Given the description of an element on the screen output the (x, y) to click on. 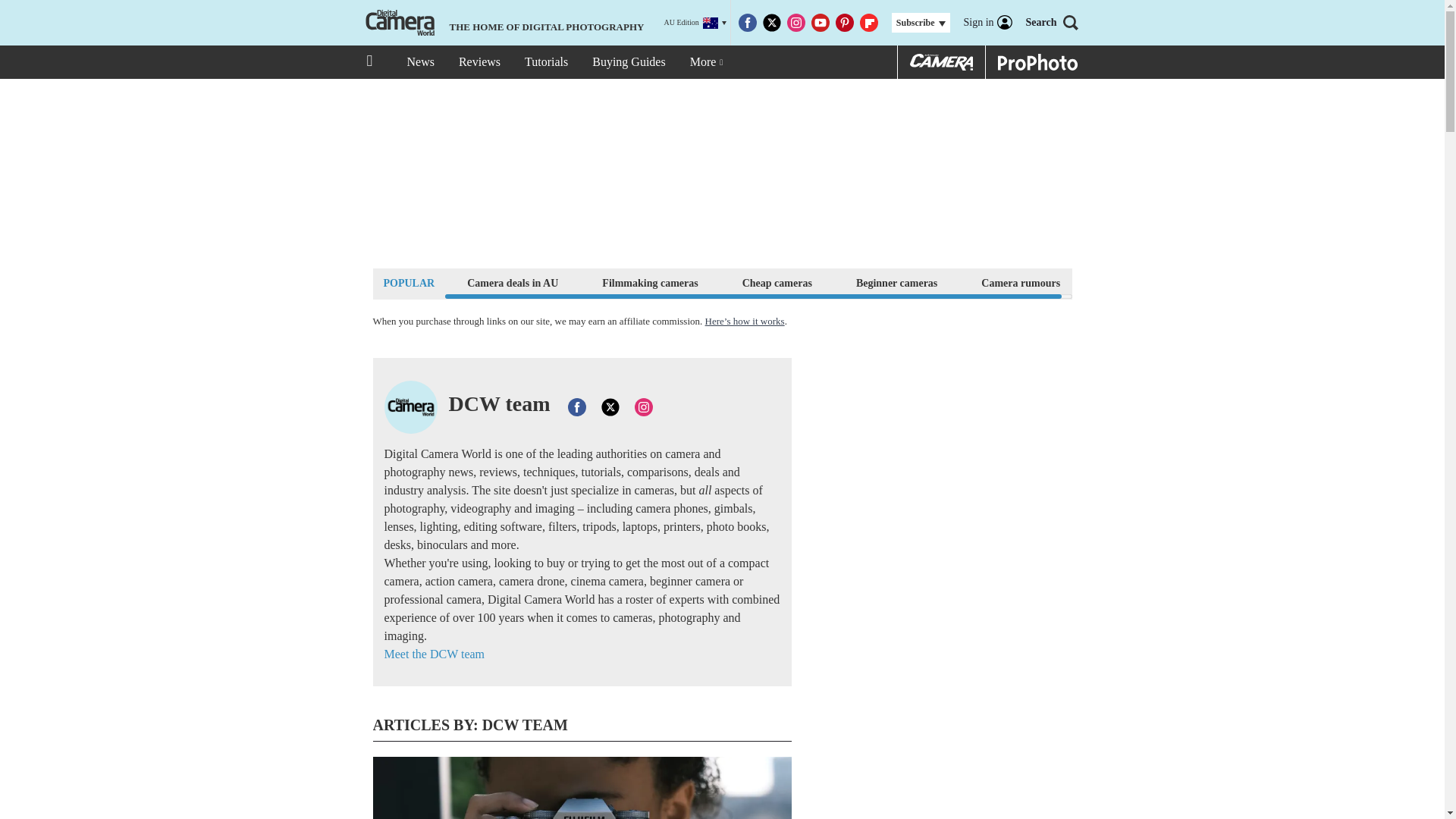
Buying Guides (628, 61)
Reviews (479, 61)
Beginner cameras (896, 282)
Filmmaking cameras (649, 282)
Cheap cameras (776, 282)
News (419, 61)
THE HOME OF DIGITAL PHOTOGRAPHY (503, 22)
Tutorials (545, 61)
AU Edition (694, 22)
Camera deals in AU (512, 282)
